Given the description of an element on the screen output the (x, y) to click on. 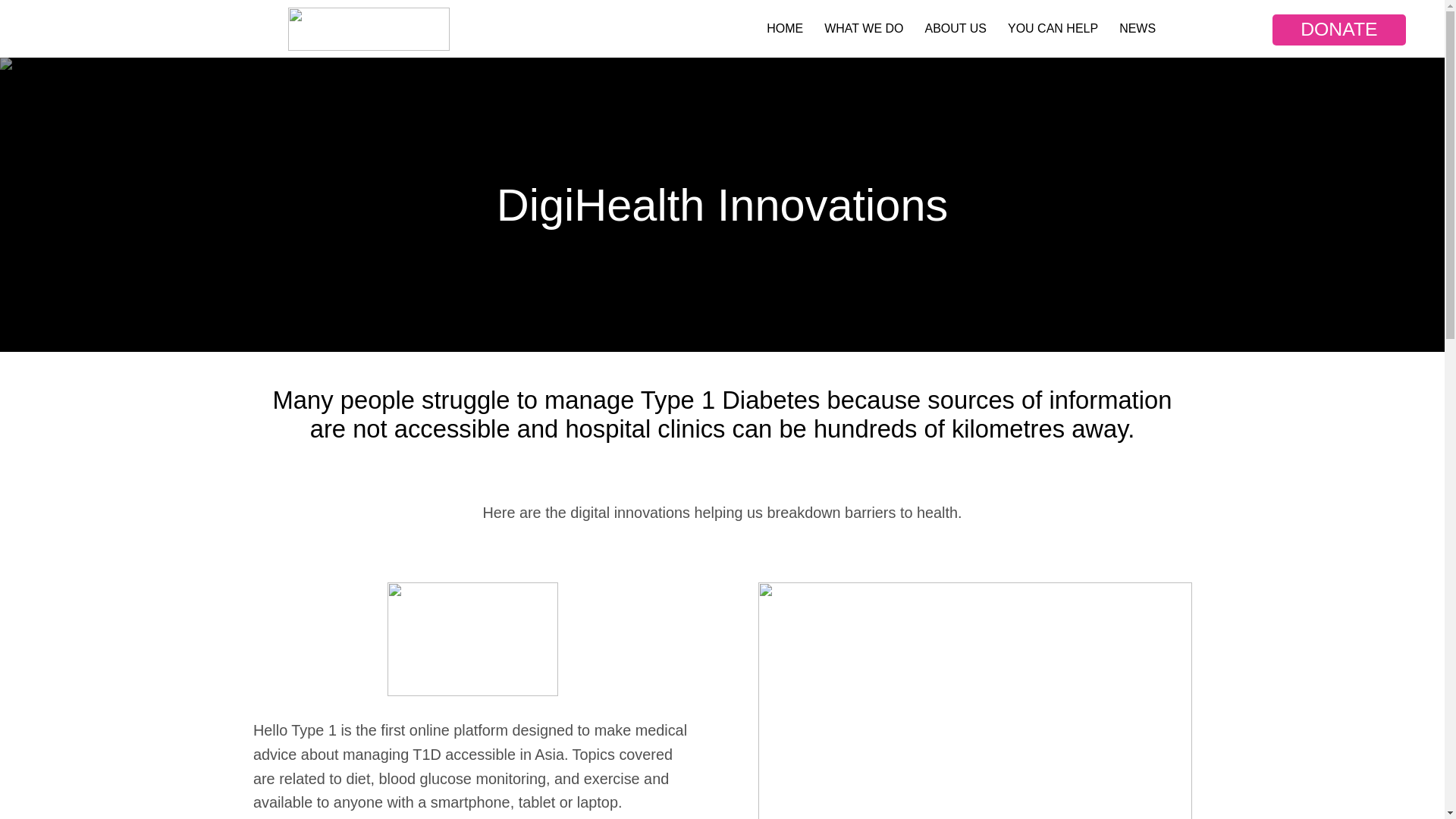
DONATE (1339, 29)
HOME (784, 27)
